Given the description of an element on the screen output the (x, y) to click on. 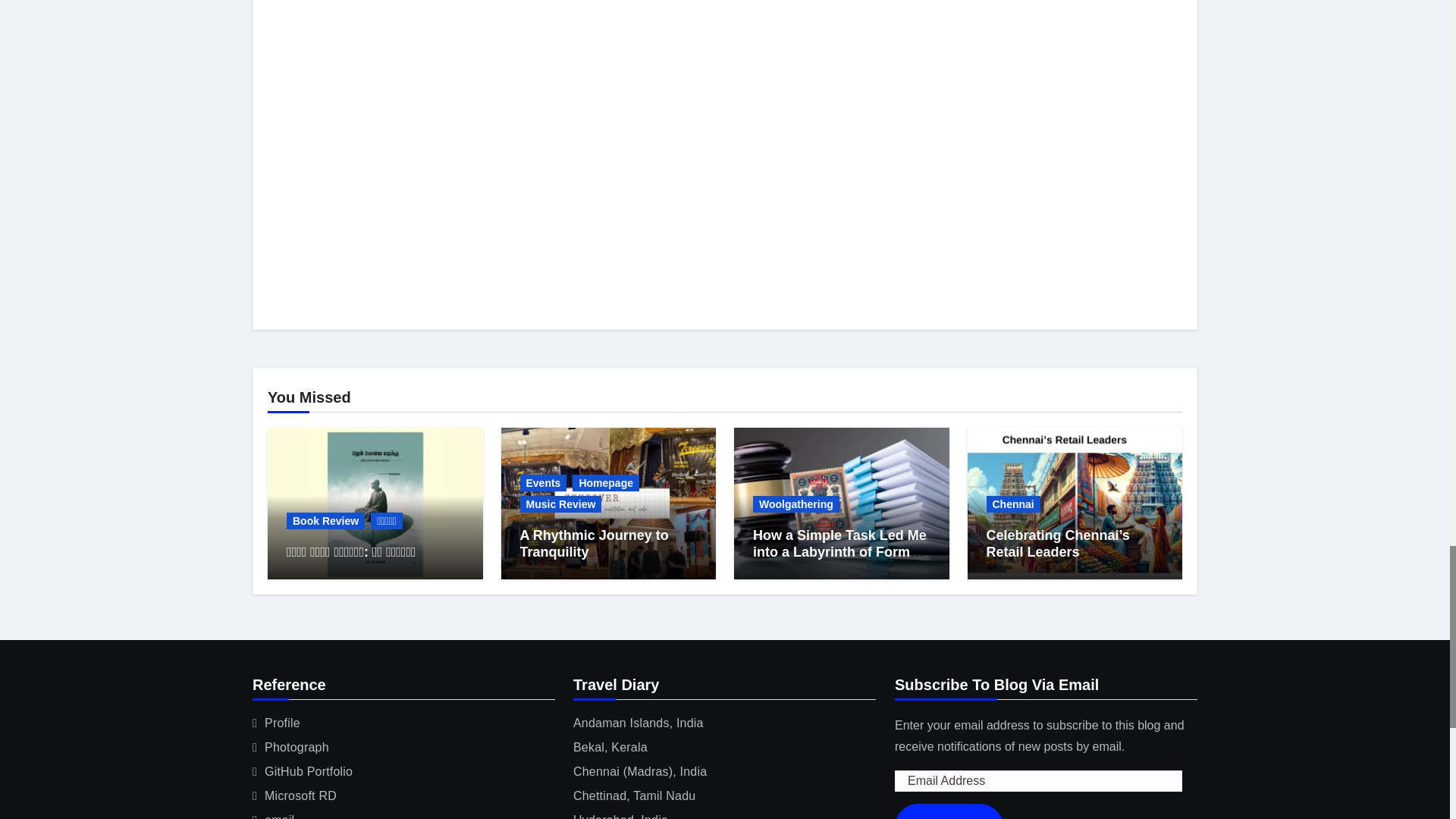
Profile (281, 722)
Permalink to: A Rhythmic Journey to Tranquility (593, 543)
